Given the description of an element on the screen output the (x, y) to click on. 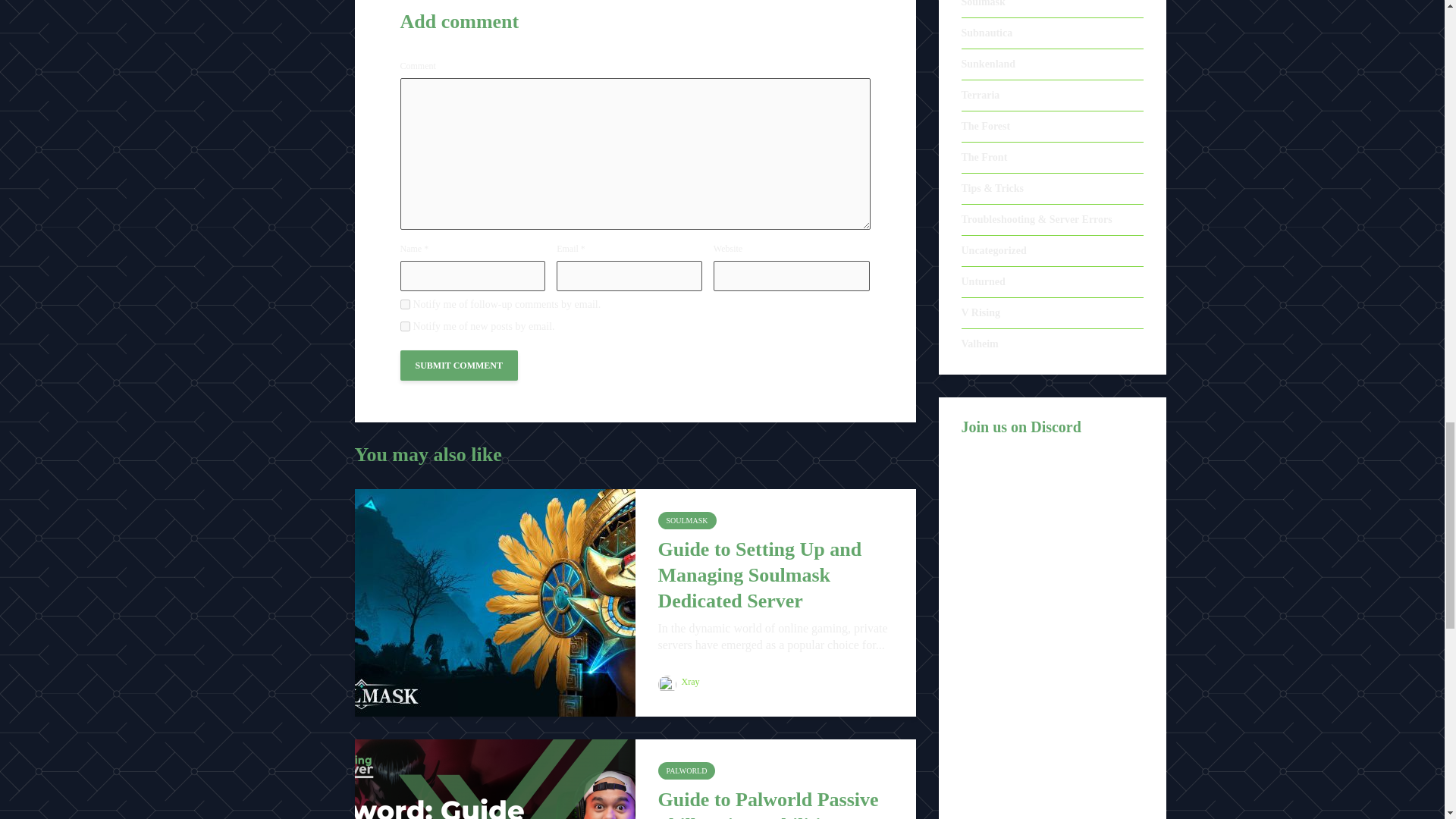
Submit Comment (459, 365)
subscribe (405, 326)
Submit Comment (459, 365)
Guide to Setting Up and Managing Soulmask Dedicated Server (494, 600)
subscribe (405, 304)
